Given the description of an element on the screen output the (x, y) to click on. 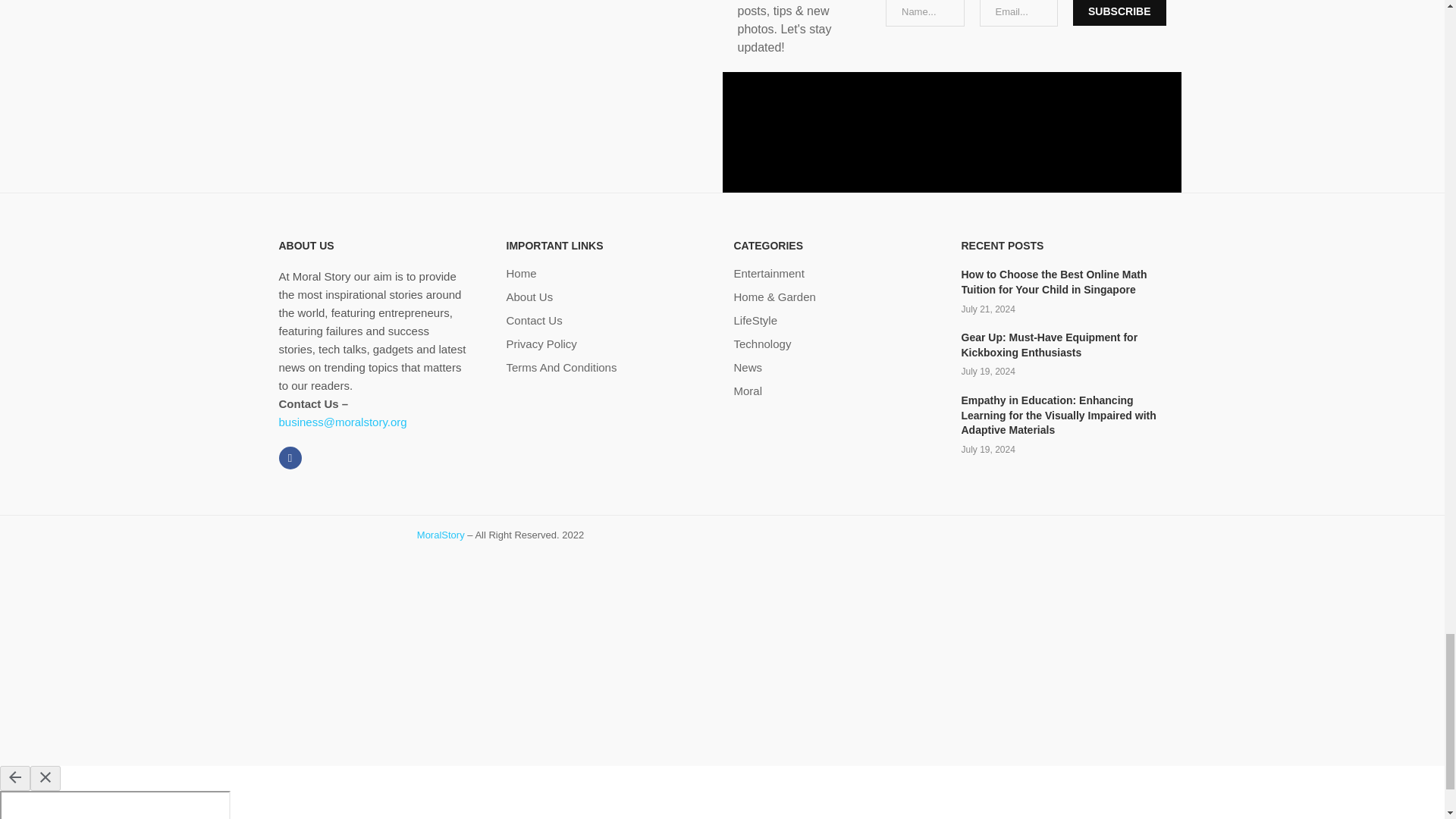
Subscribe (1119, 12)
